Given the description of an element on the screen output the (x, y) to click on. 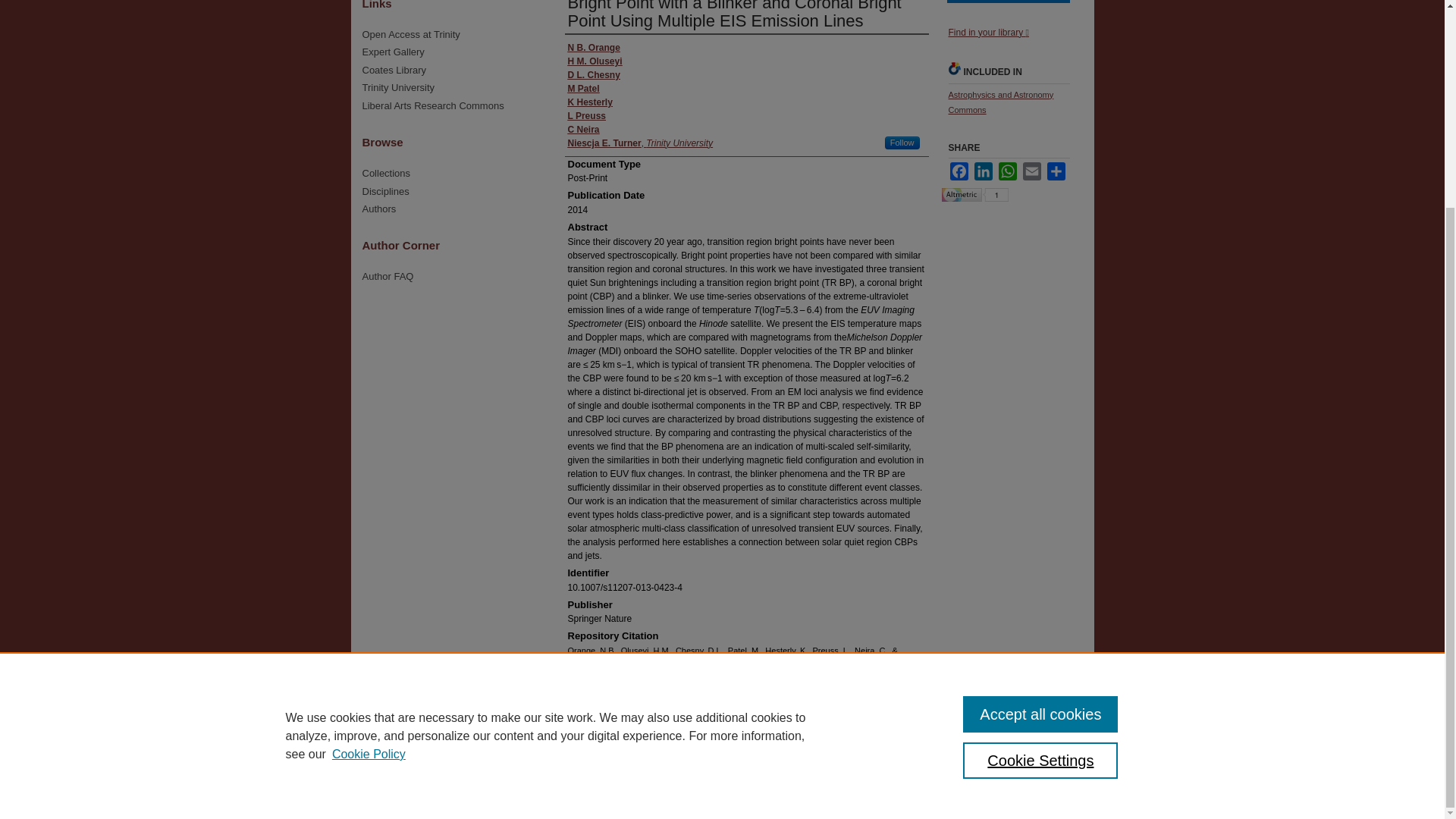
Follow (902, 142)
OpenURL (987, 32)
Facebook (958, 171)
K Hesterly (589, 101)
L Preuss (586, 115)
N B. Orange (593, 47)
Email (1031, 171)
D L. Chesny (593, 74)
Niescja E. Turner, Trinity University (640, 142)
C Neira (582, 129)
Find in your library (987, 32)
M Patel (582, 88)
H M. Oluseyi (594, 60)
Astrophysics and Astronomy Commons (999, 102)
